Given the description of an element on the screen output the (x, y) to click on. 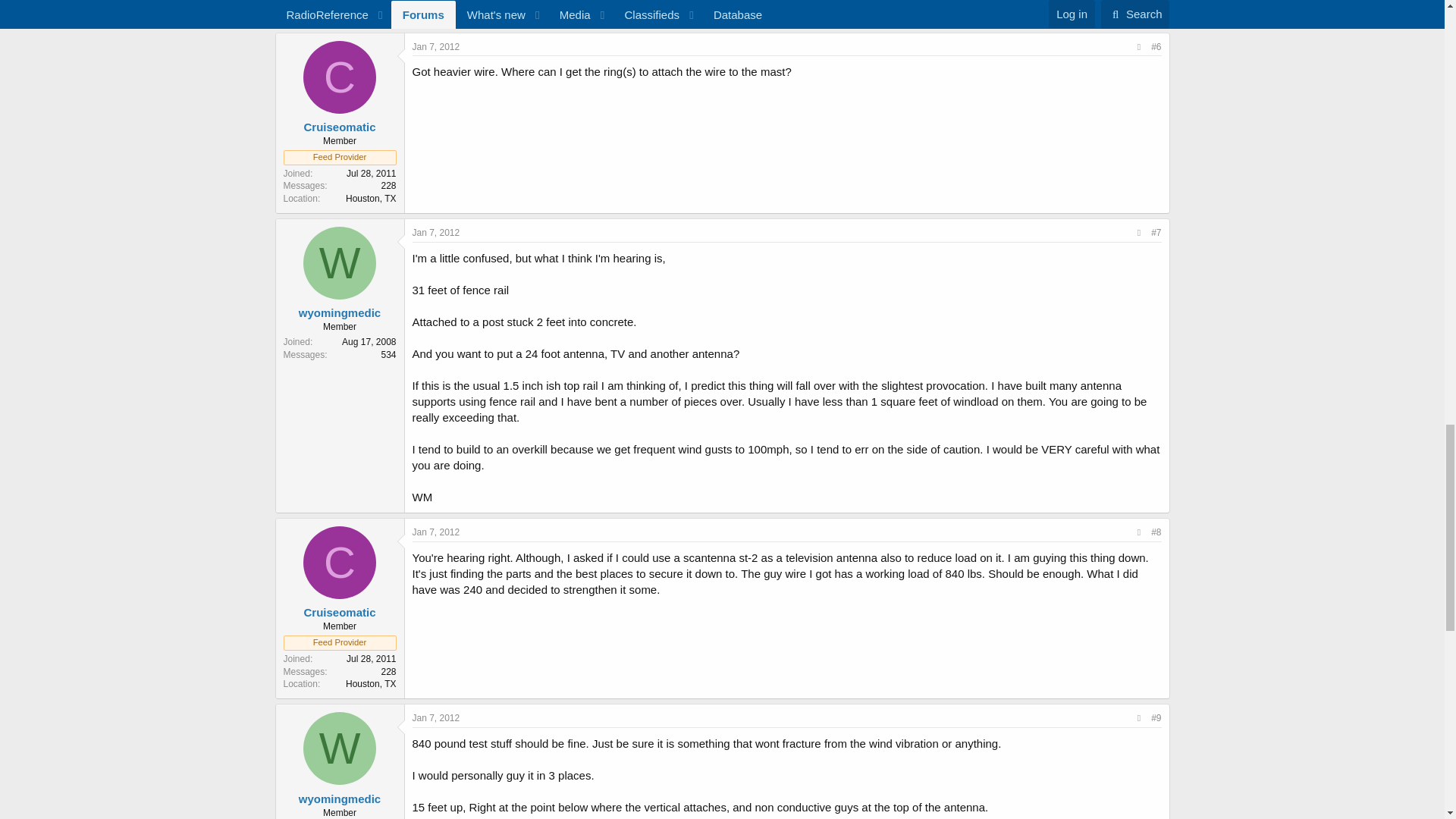
Jan 6, 2012 at 6:53 PM (1139, 12)
Jan 7, 2012 at 8:58 PM (436, 232)
Jan 7, 2012 at 10:52 PM (436, 717)
Jan 7, 2012 at 9:04 PM (436, 532)
Jan 7, 2012 at 8:37 PM (436, 46)
